Given the description of an element on the screen output the (x, y) to click on. 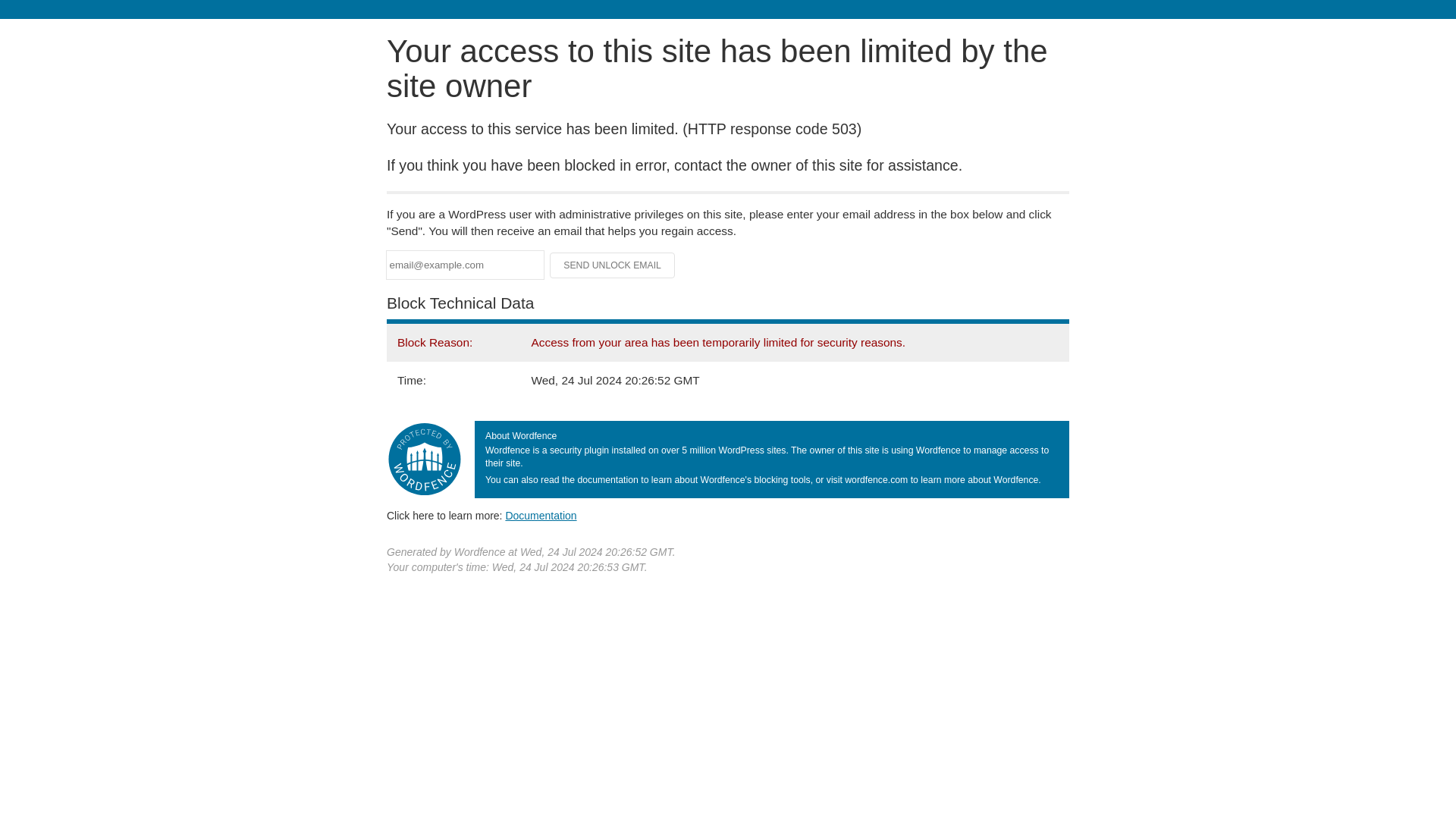
Send Unlock Email (612, 265)
Send Unlock Email (612, 265)
Documentation (540, 515)
